Given the description of an element on the screen output the (x, y) to click on. 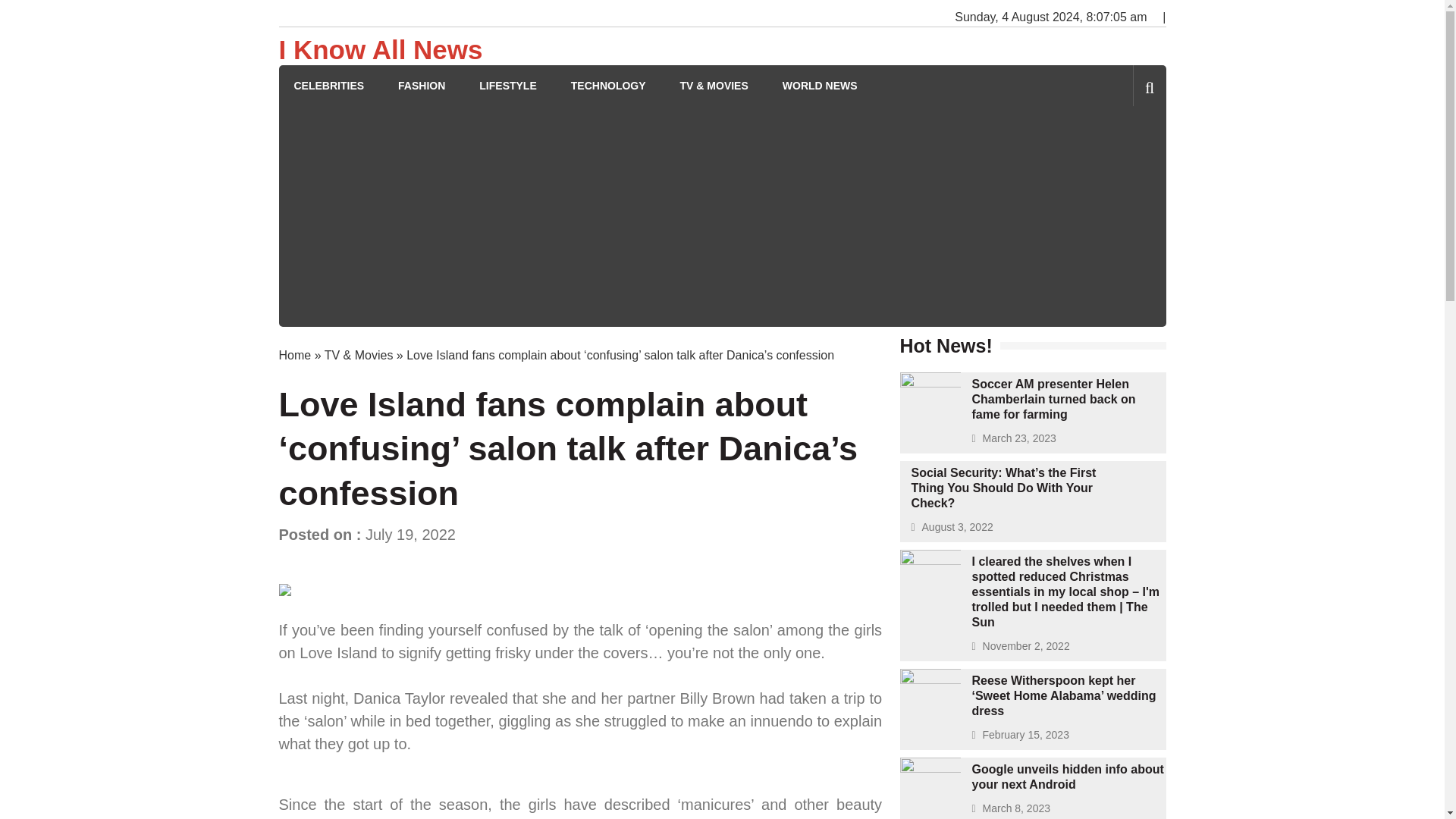
Search (1123, 150)
TECHNOLOGY (608, 86)
Google unveils hidden info about your next Android (1067, 776)
July 19, 2022 (410, 534)
CELEBRITIES (329, 86)
LIFESTYLE (507, 86)
FASHION (421, 86)
WORLD NEWS (820, 86)
February 15, 2023 (1025, 734)
August 3, 2022 (956, 526)
March 8, 2023 (1016, 808)
November 2, 2022 (1026, 645)
I Know All News (381, 50)
